Given the description of an element on the screen output the (x, y) to click on. 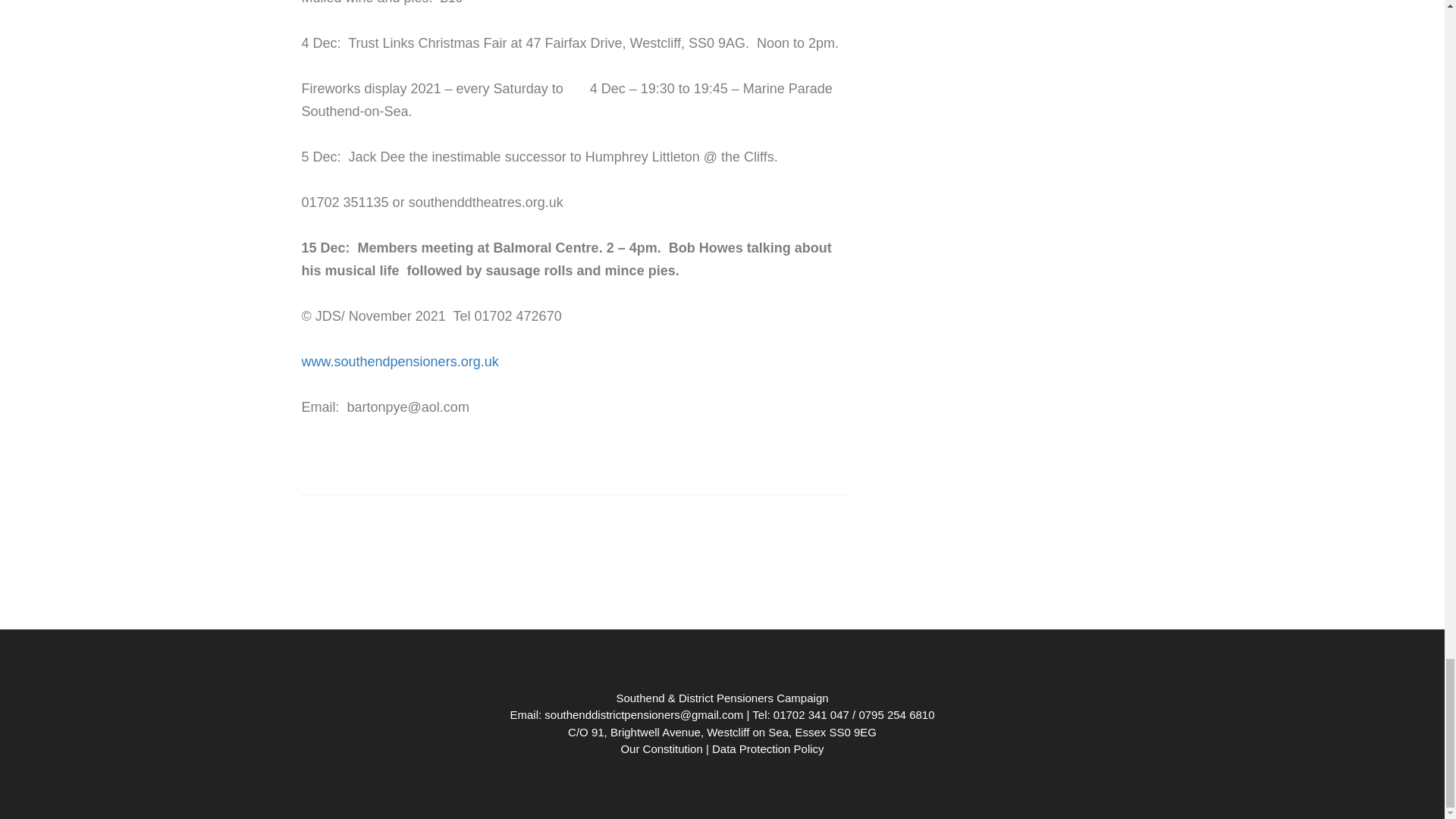
Data Protection Policy (767, 748)
www.southendpensioners.org.uk (400, 361)
Our Constitution (660, 748)
